Given the description of an element on the screen output the (x, y) to click on. 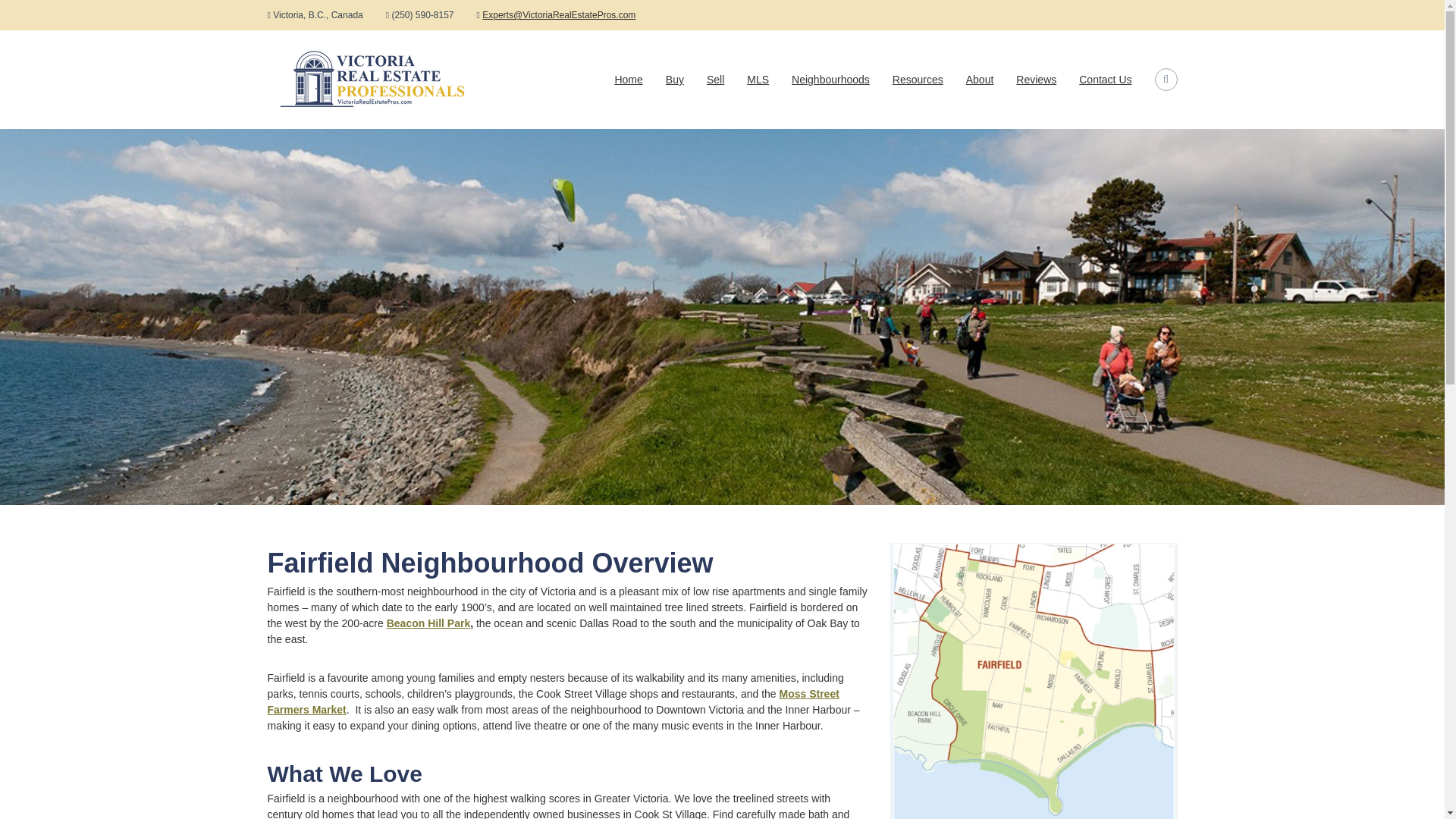
Moss Street Farmers Market (552, 701)
Victoria Real Estate Professionals (325, 74)
Home (628, 79)
Beacon Hill Park (428, 623)
Resources (917, 79)
Buy (674, 79)
Reviews (1036, 79)
About (980, 79)
Sell (714, 79)
Neighbourhoods (830, 79)
MLS (757, 79)
Contact Us (1104, 79)
